Given the description of an element on the screen output the (x, y) to click on. 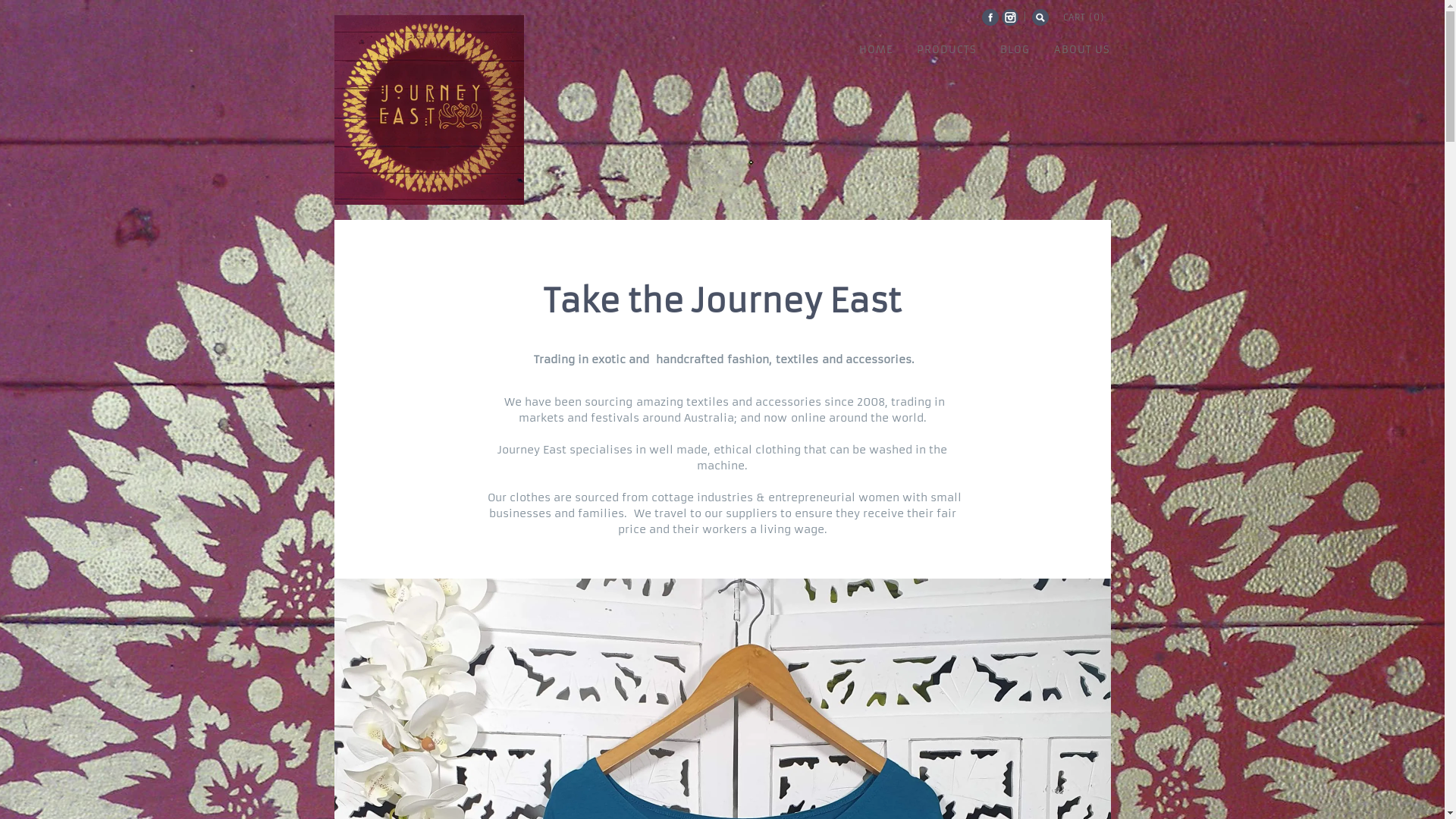
PRODUCTS Element type: text (946, 48)
INSTAGRAM Element type: text (1009, 17)
BLOG Element type: text (1015, 48)
ABOUT US Element type: text (1081, 48)
FACEBOOK Element type: text (990, 17)
HOME Element type: text (875, 48)
CART (0) Element type: text (1083, 17)
SEARCH Element type: text (1040, 17)
